Given the description of an element on the screen output the (x, y) to click on. 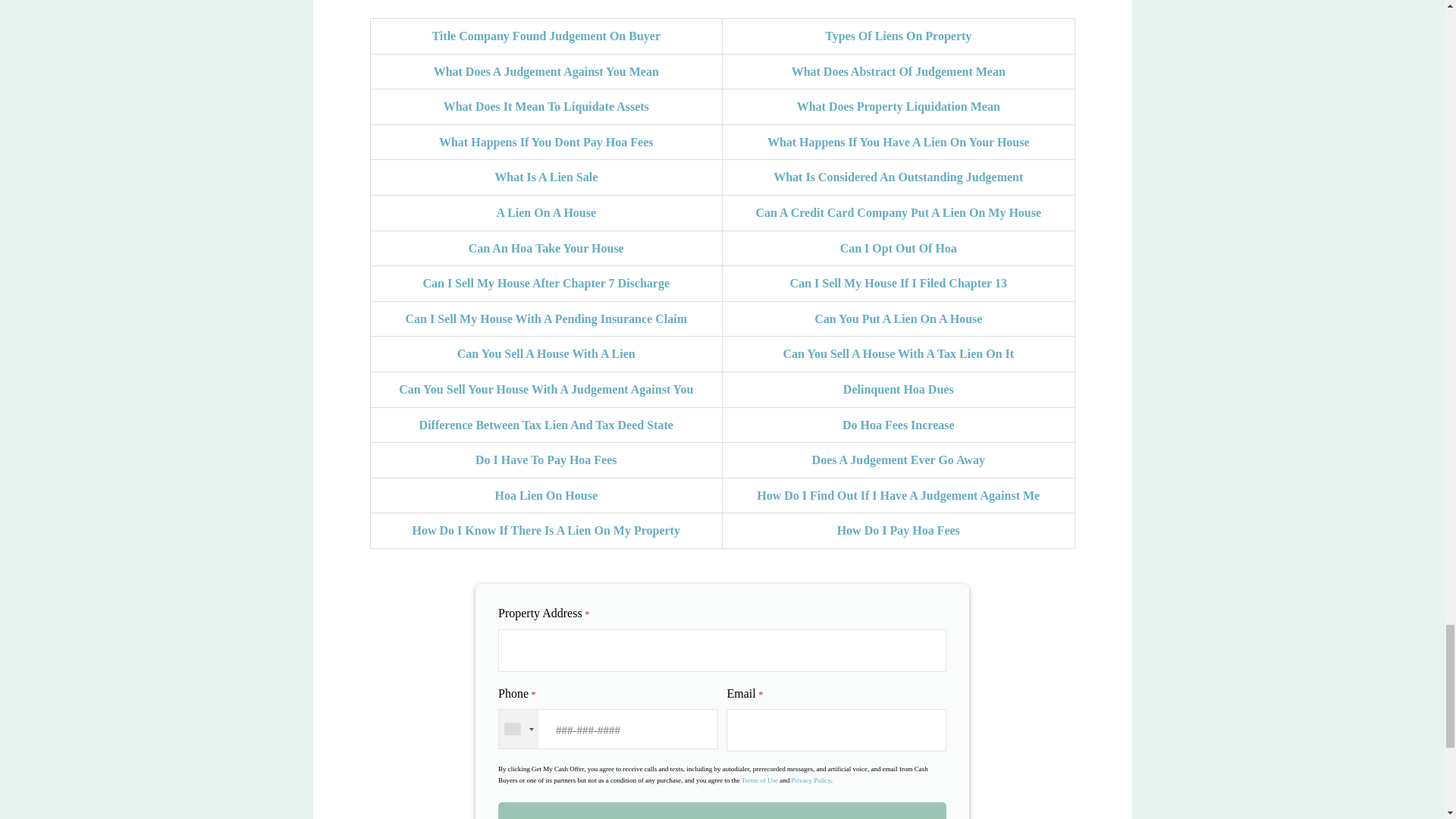
What Does It Mean To Liquidate Assets (546, 106)
What Does Abstract Of Judgement Mean (899, 71)
What Happens If You Dont Pay Hoa Fees (546, 141)
Types Of Liens On Property (898, 35)
What Does A Judgement Against You Mean (546, 71)
Can A Credit Card Company Put A Lien On My House (898, 212)
What Is A Lien Sale (545, 176)
What Happens If You Have A Lien On Your House (898, 141)
What Is Considered An Outstanding Judgement (898, 176)
Title Company Found Judgement On Buyer (545, 35)
A Lien On A House (545, 212)
What Does Property Liquidation Mean (898, 106)
